Given the description of an element on the screen output the (x, y) to click on. 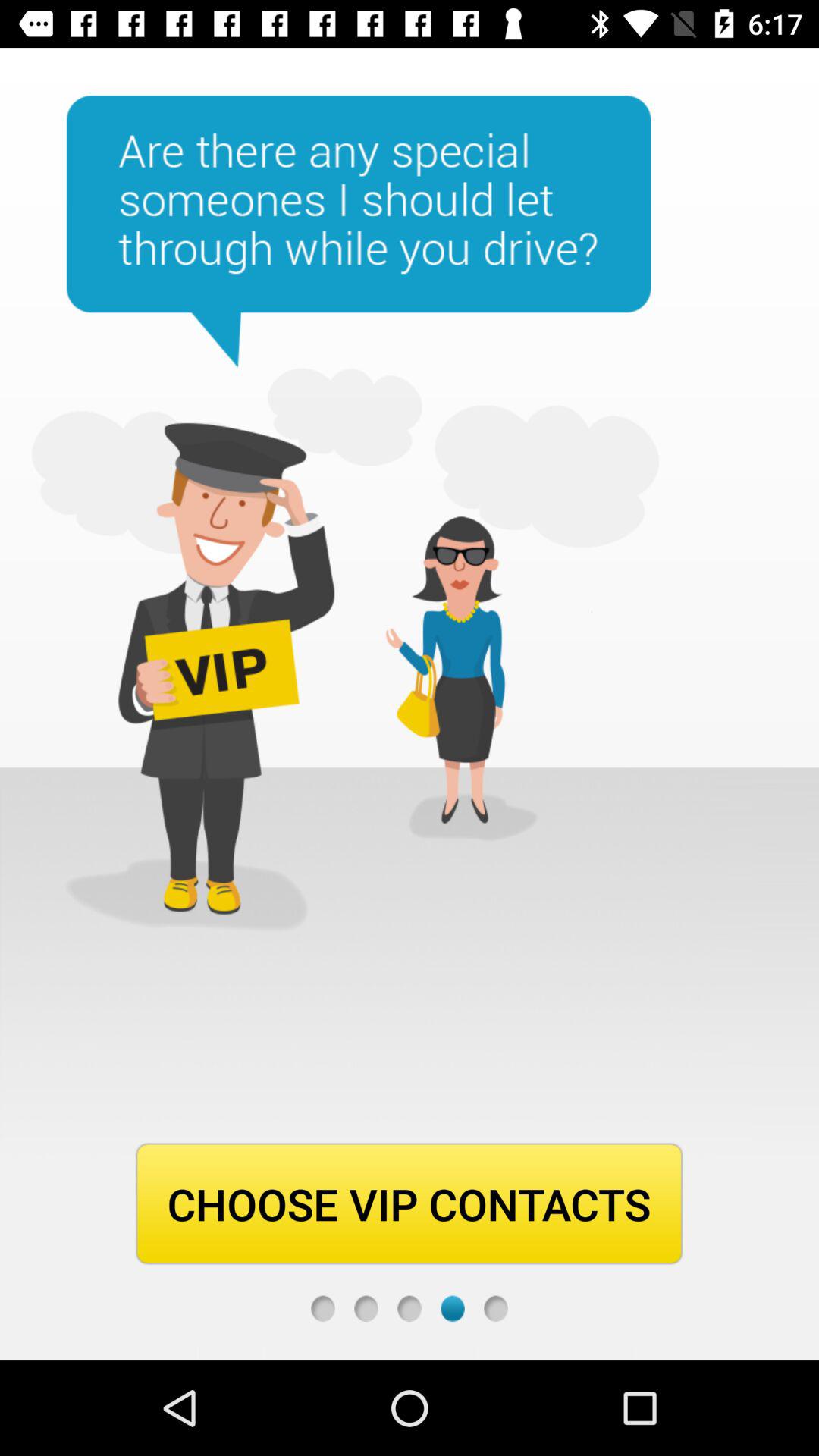
return to previous image (409, 1308)
